Given the description of an element on the screen output the (x, y) to click on. 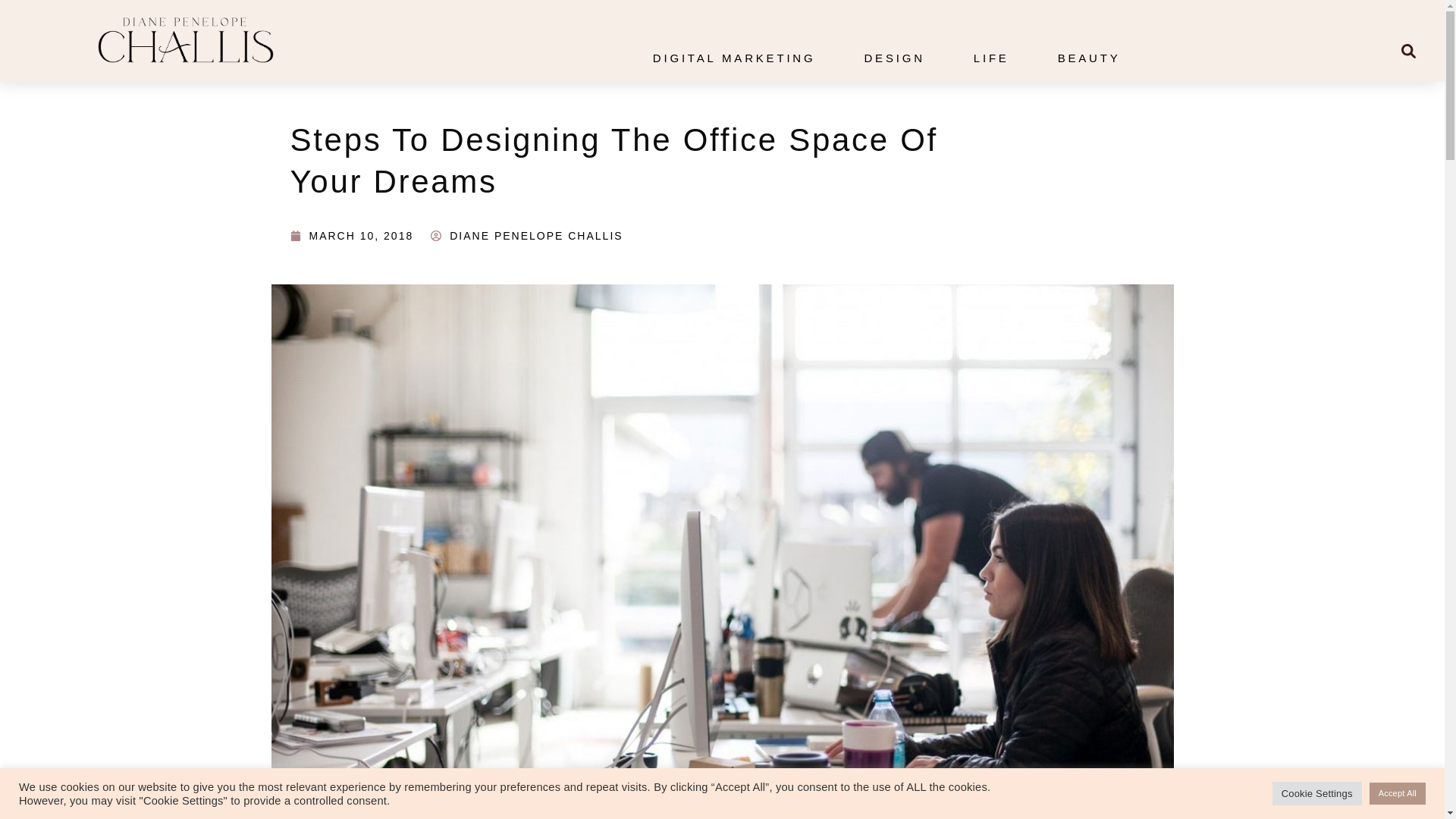
DIGITAL MARKETING (734, 57)
LIFE (991, 57)
DESIGN (893, 57)
